Given the description of an element on the screen output the (x, y) to click on. 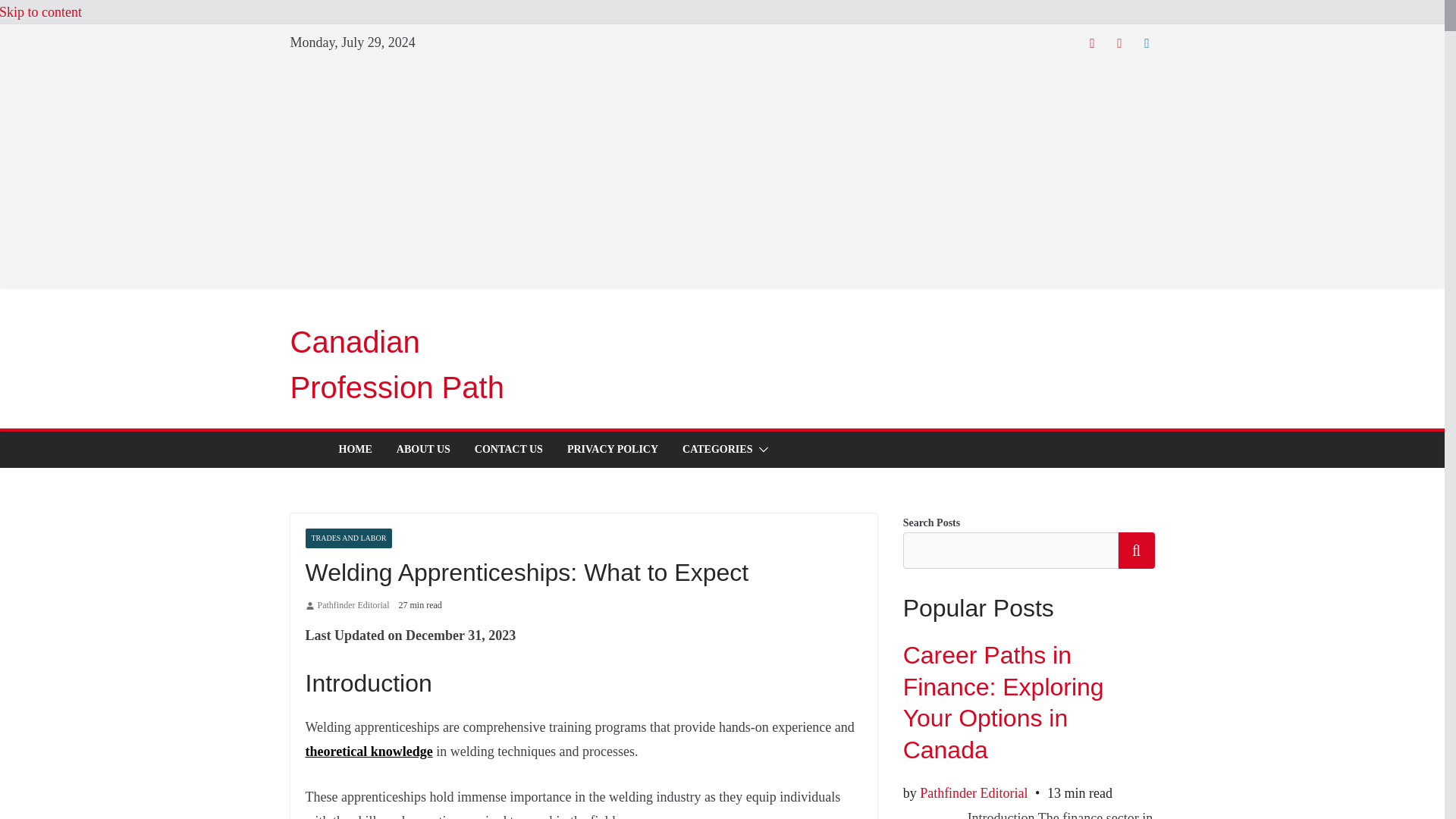
Twitter (1091, 43)
CATEGORIES (717, 449)
Skip to content (40, 11)
ABOUT US (422, 449)
PRIVACY POLICY (612, 449)
Pathfinder Editorial (352, 605)
Canadian Profession Path (396, 364)
CONTACT US (508, 449)
LinkedIn (1146, 43)
TRADES AND LABOR (347, 537)
Pathfinder Editorial (352, 605)
Canadian Profession Path (396, 364)
Pinterest (1119, 43)
HOME (354, 449)
theoretical knowledge (368, 751)
